Given the description of an element on the screen output the (x, y) to click on. 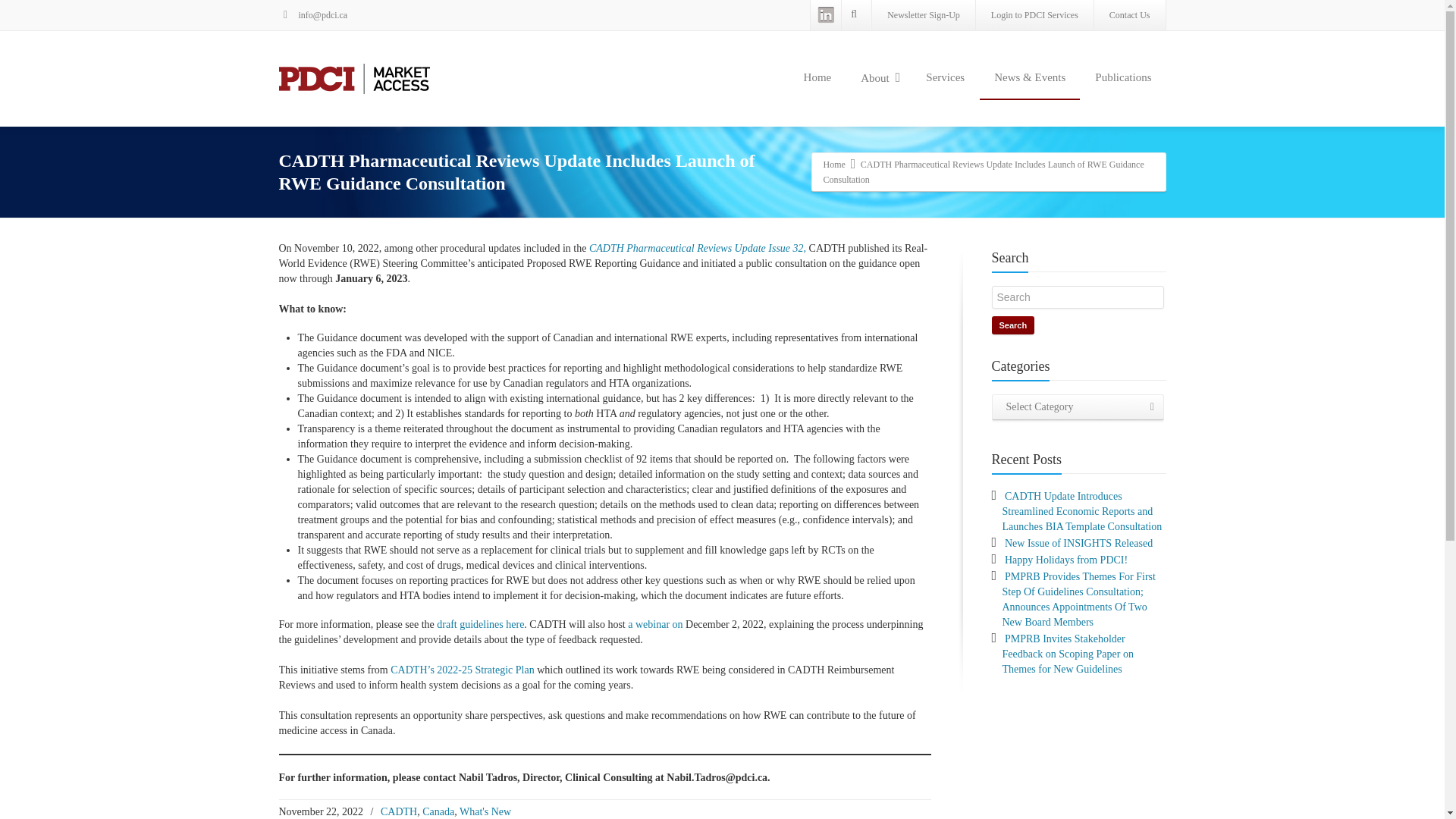
Login to PDCI Services (1034, 15)
Newsletter Sign-Up (923, 15)
Home (834, 163)
Happy Holidays from PDCI! (1065, 559)
draft guidelines here (480, 624)
Contact Us (1130, 15)
About (878, 78)
CADTH (398, 811)
CADTH Pharmaceutical Reviews Update Issue 32, (697, 247)
Publications (1123, 77)
Home (817, 77)
Canada (438, 811)
Linkedin (825, 15)
